Given the description of an element on the screen output the (x, y) to click on. 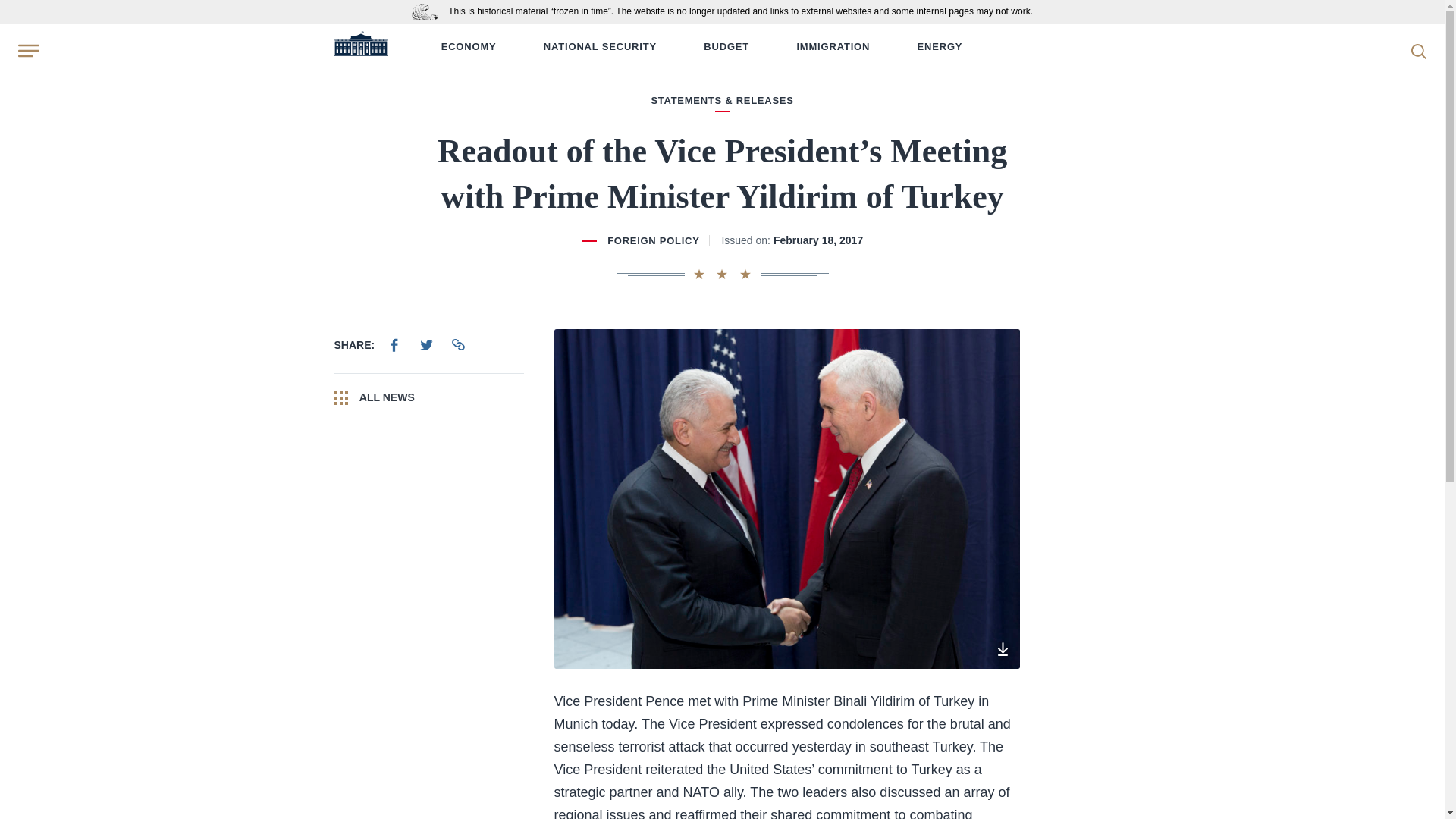
WhiteHouse.gov (360, 46)
ALL NEWS (427, 397)
FOREIGN POLICY (652, 240)
National Archives (428, 10)
IMMIGRATION (832, 46)
ECONOMY (468, 46)
BUDGET (726, 46)
NATIONAL SECURITY (599, 46)
ENERGY (939, 46)
